Given the description of an element on the screen output the (x, y) to click on. 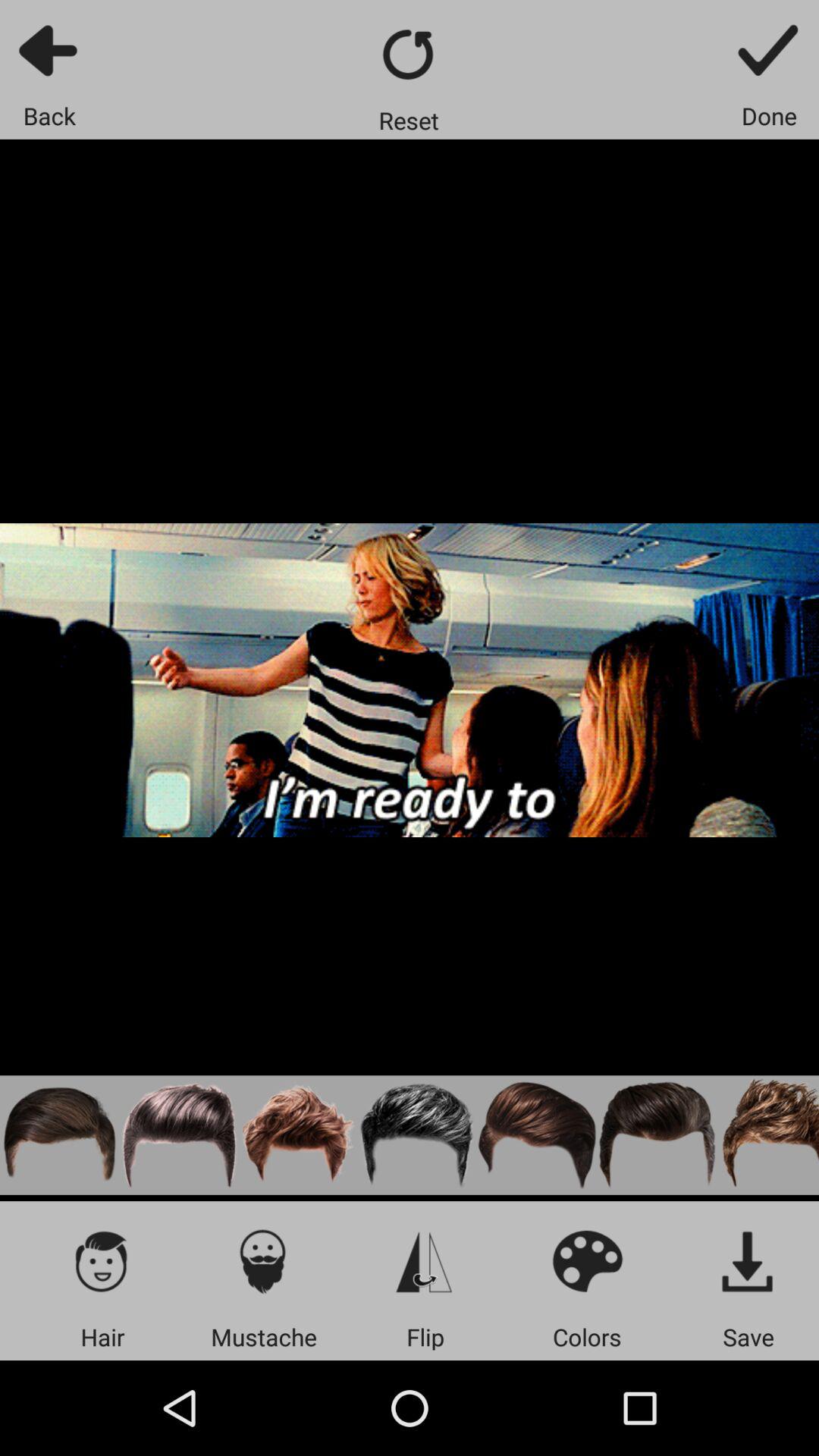
select hair (537, 1134)
